Given the description of an element on the screen output the (x, y) to click on. 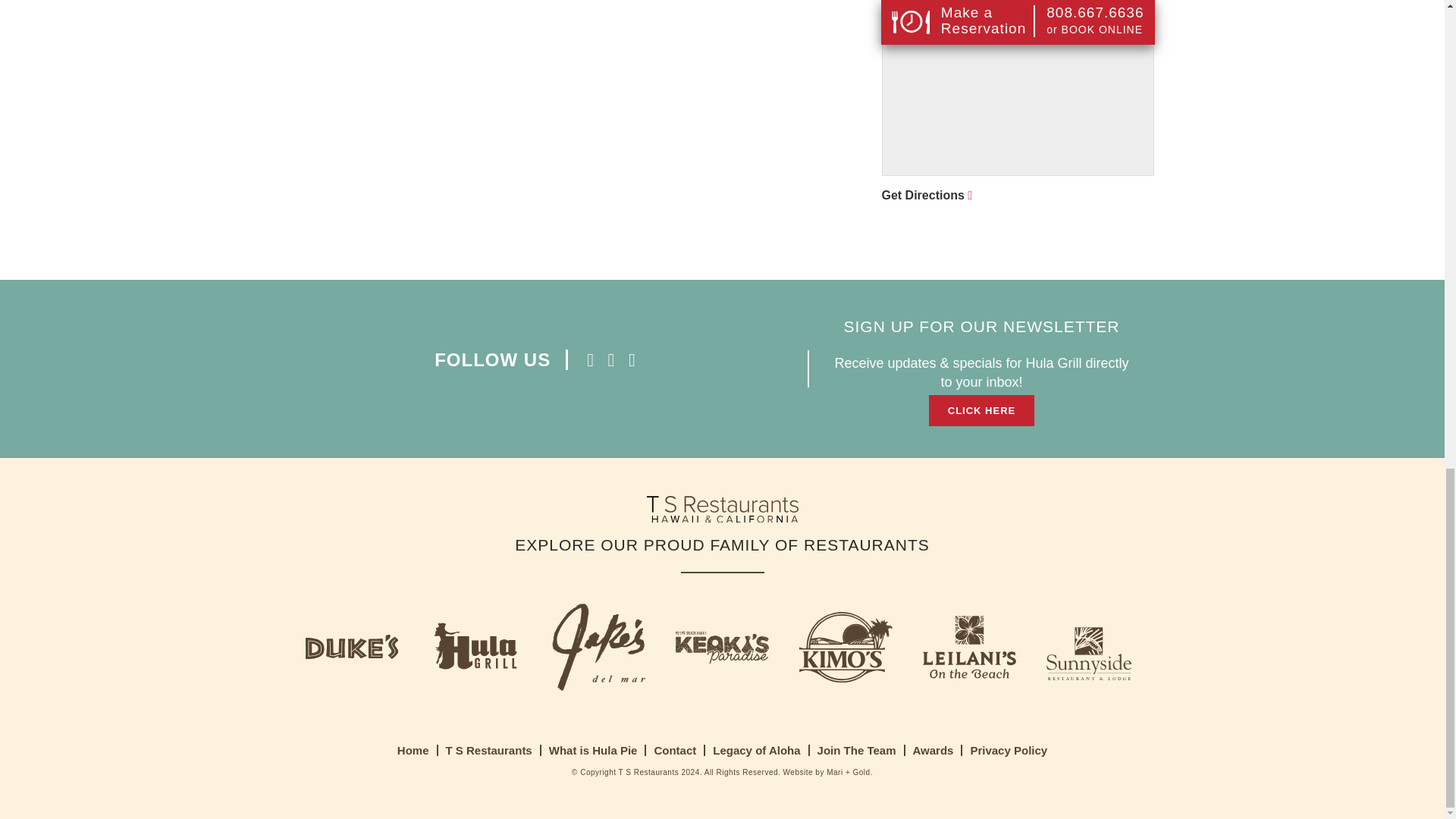
T S Restaurants (488, 748)
What is Hula Pie (592, 748)
kimos Logo (845, 649)
sunnyside Logo (1093, 649)
Get Directions (1017, 102)
leilani Logo (969, 649)
keokis Logo (721, 649)
CLICK HERE (981, 410)
dukes Logo (350, 649)
jakes Logo (598, 649)
